Given the description of an element on the screen output the (x, y) to click on. 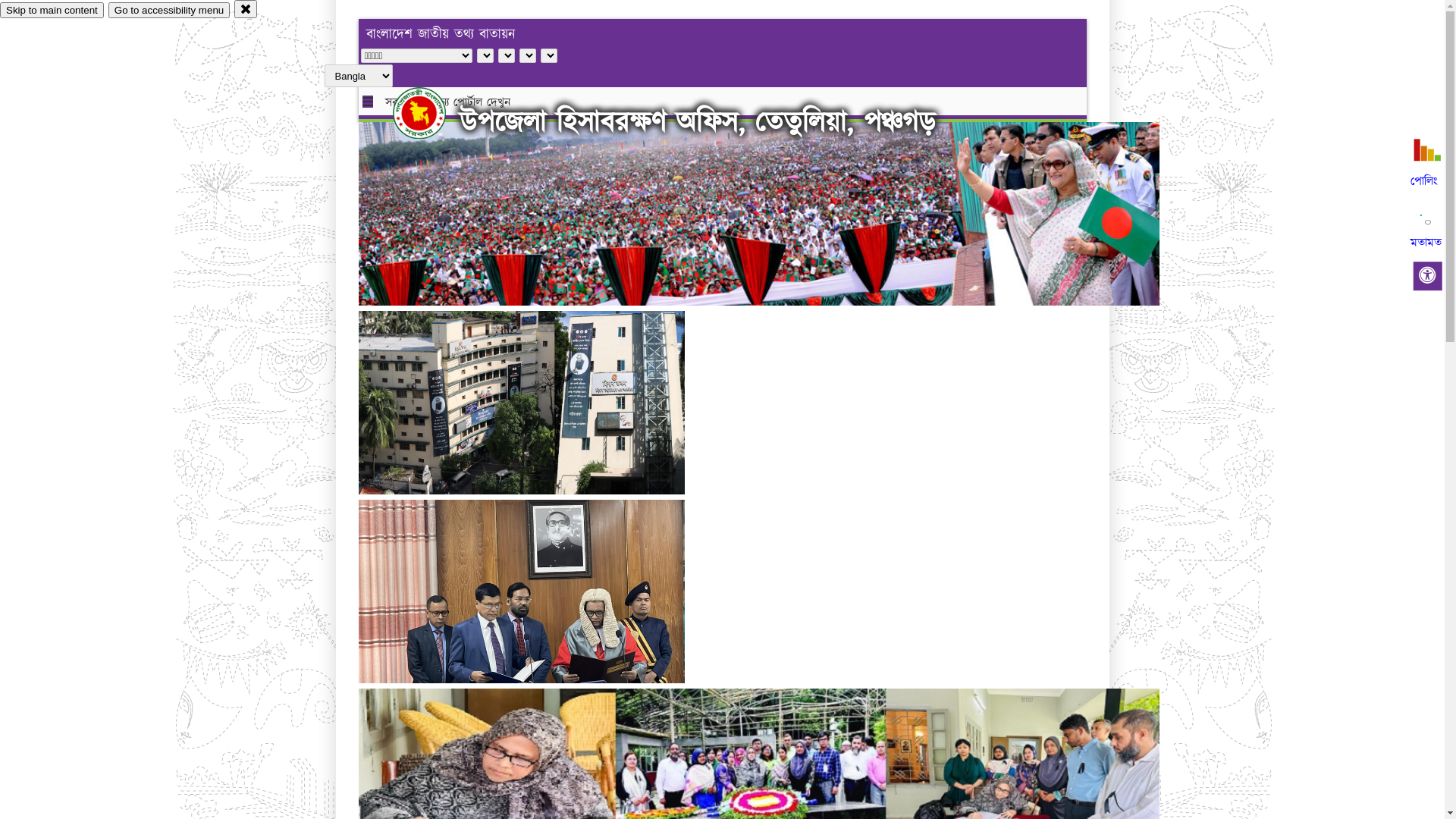
Skip to main content Element type: text (51, 10)
close Element type: hover (245, 9)

                
             Element type: hover (431, 112)
Go to accessibility menu Element type: text (168, 10)
